Given the description of an element on the screen output the (x, y) to click on. 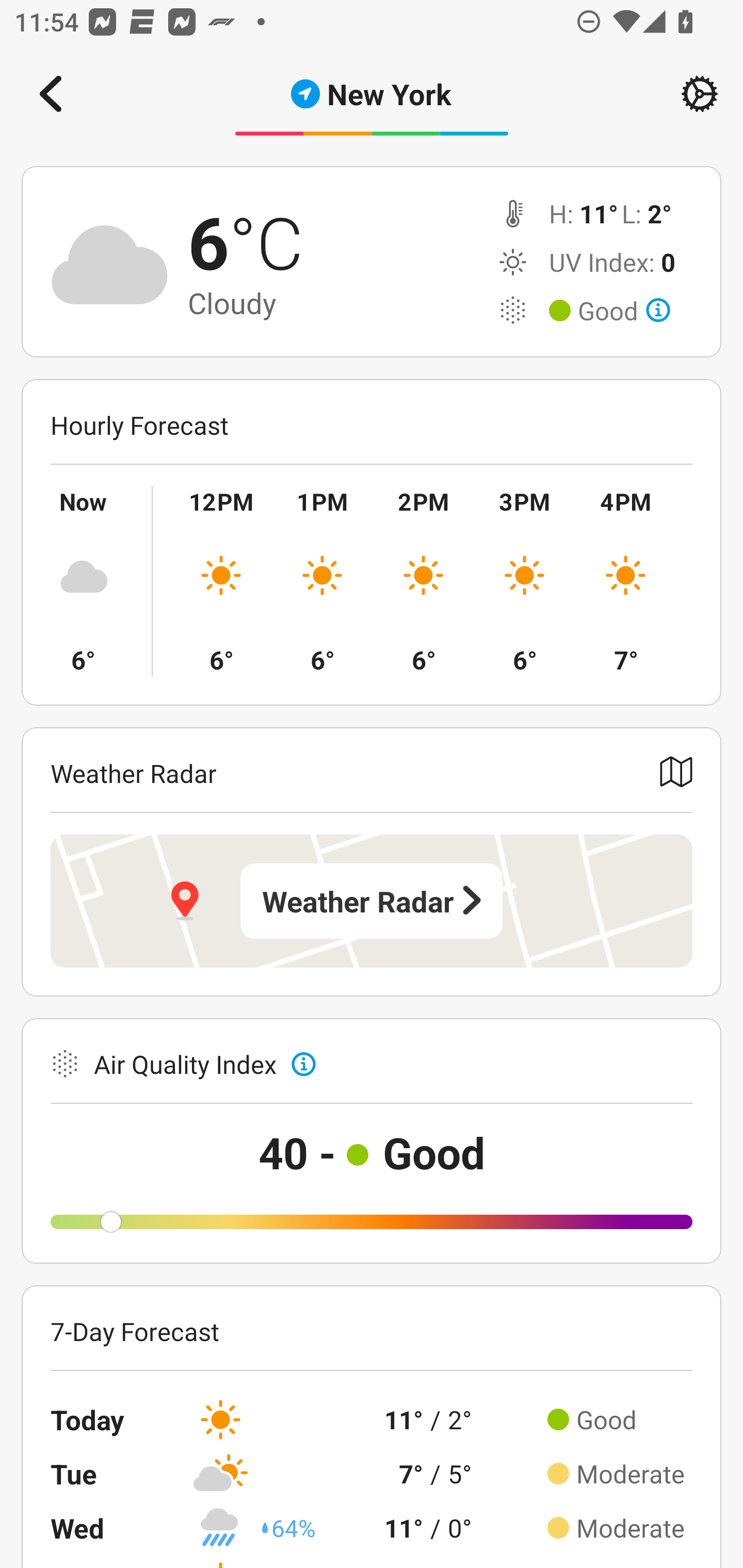
Navigate up (50, 93)
Setting (699, 93)
Good (624, 310)
Weather Radar (371, 900)
